Given the description of an element on the screen output the (x, y) to click on. 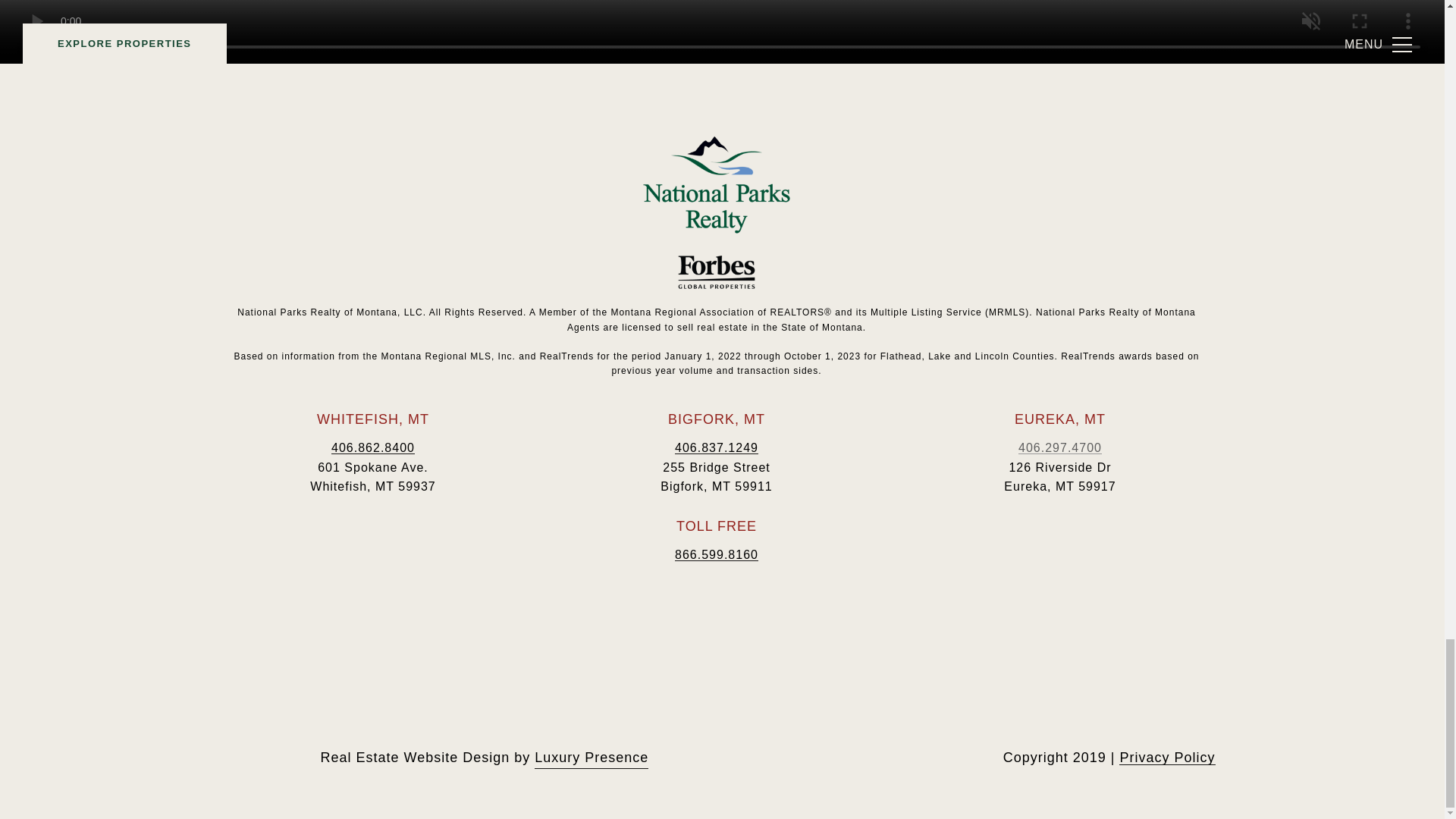
866.599.8160 (716, 554)
406.862.8400 (372, 447)
406.297.4700 (1059, 447)
406.837.1249 (716, 447)
